Given the description of an element on the screen output the (x, y) to click on. 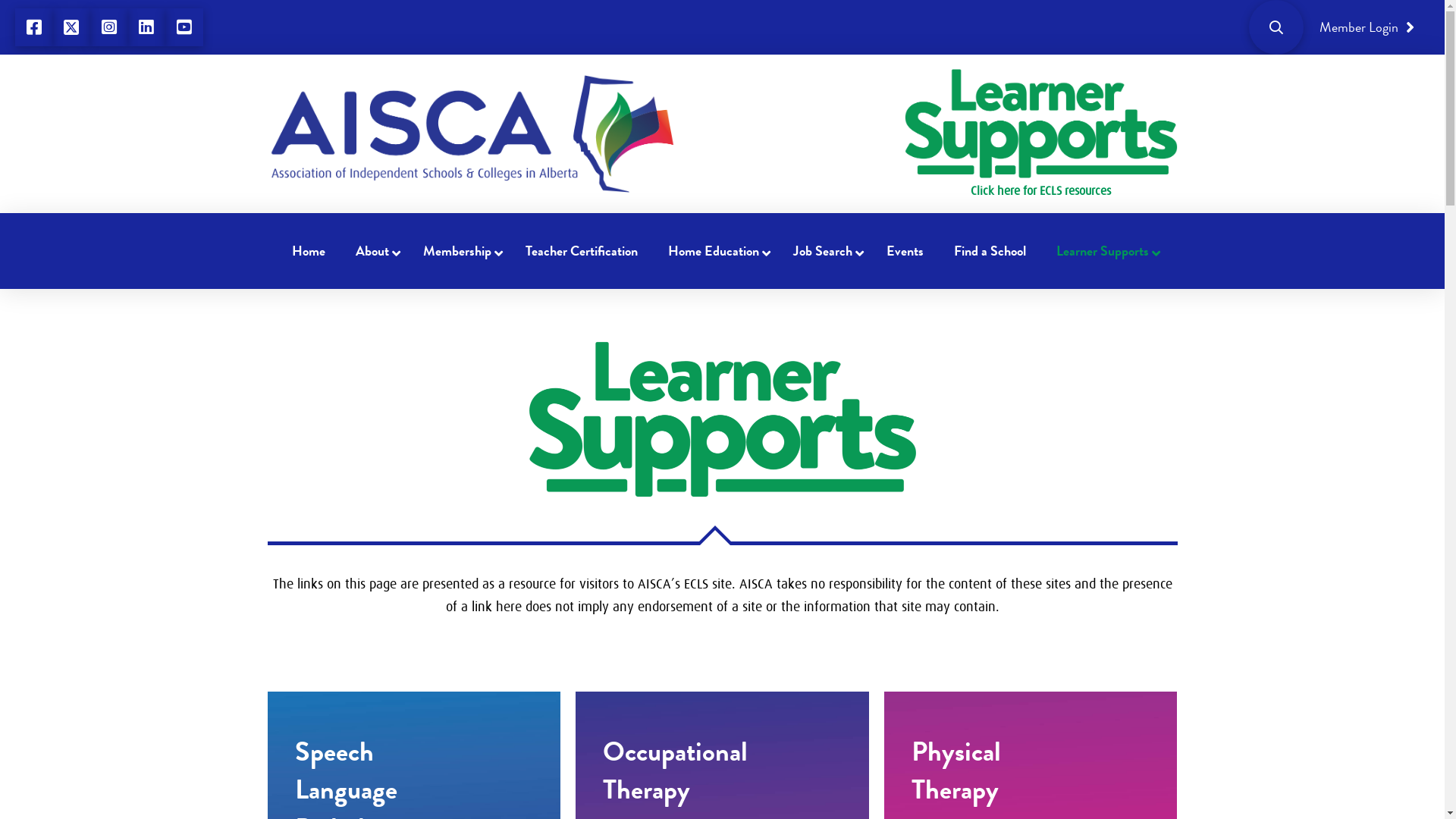
Job Search Element type: text (824, 250)
Home Element type: text (308, 250)
Member Login Element type: text (1366, 26)
Teacher Certification Element type: text (581, 250)
Home Education Element type: text (715, 250)
Events Element type: text (904, 250)
Membership Element type: text (458, 250)
Click here for ECLS resources Element type: text (1039, 133)
About Element type: text (373, 250)
Find a School Element type: text (989, 250)
Learner Supports Element type: text (1104, 250)
